Given the description of an element on the screen output the (x, y) to click on. 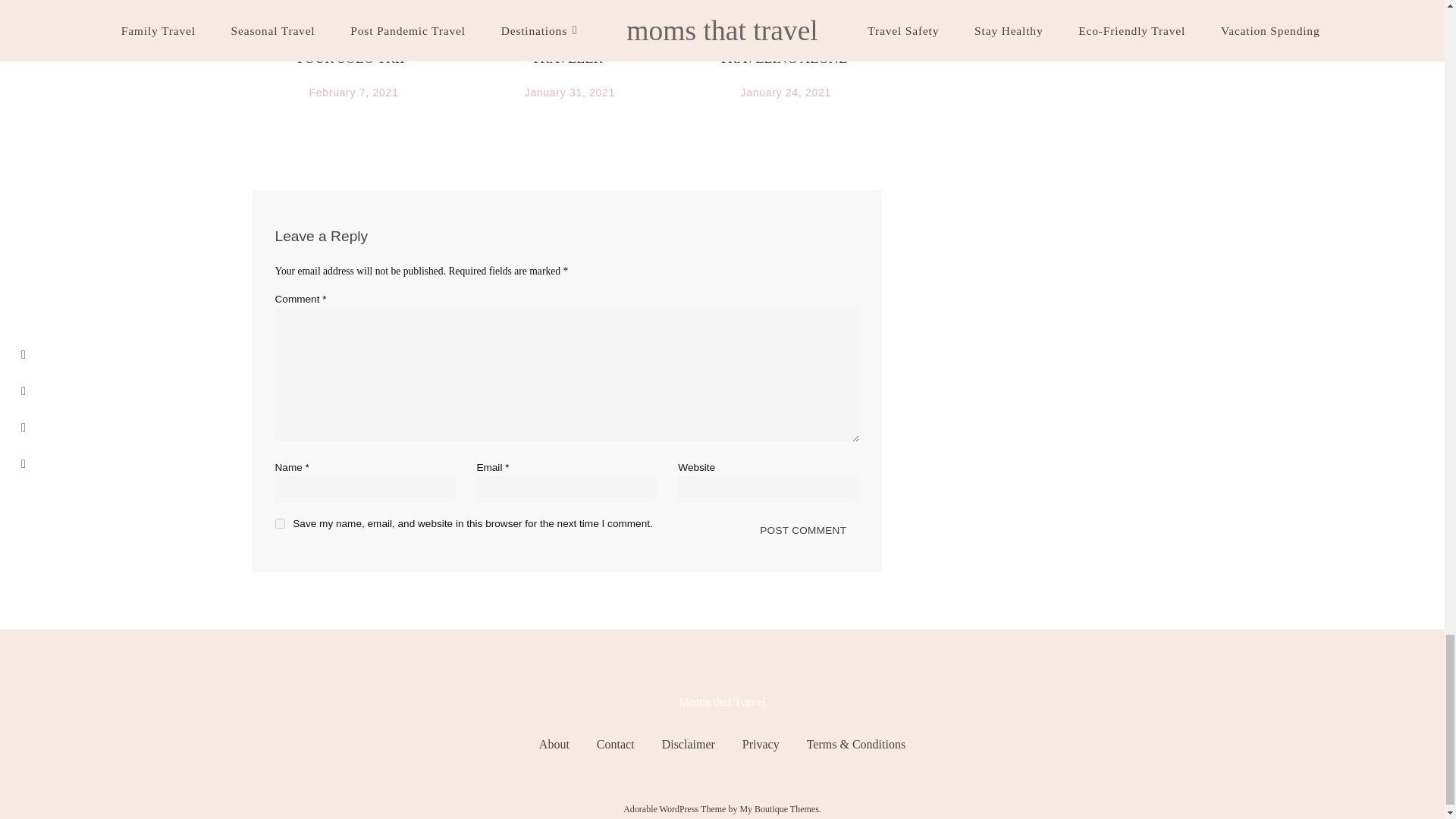
yes (279, 523)
Moms that Travel (722, 701)
Post Comment (802, 529)
